Given the description of an element on the screen output the (x, y) to click on. 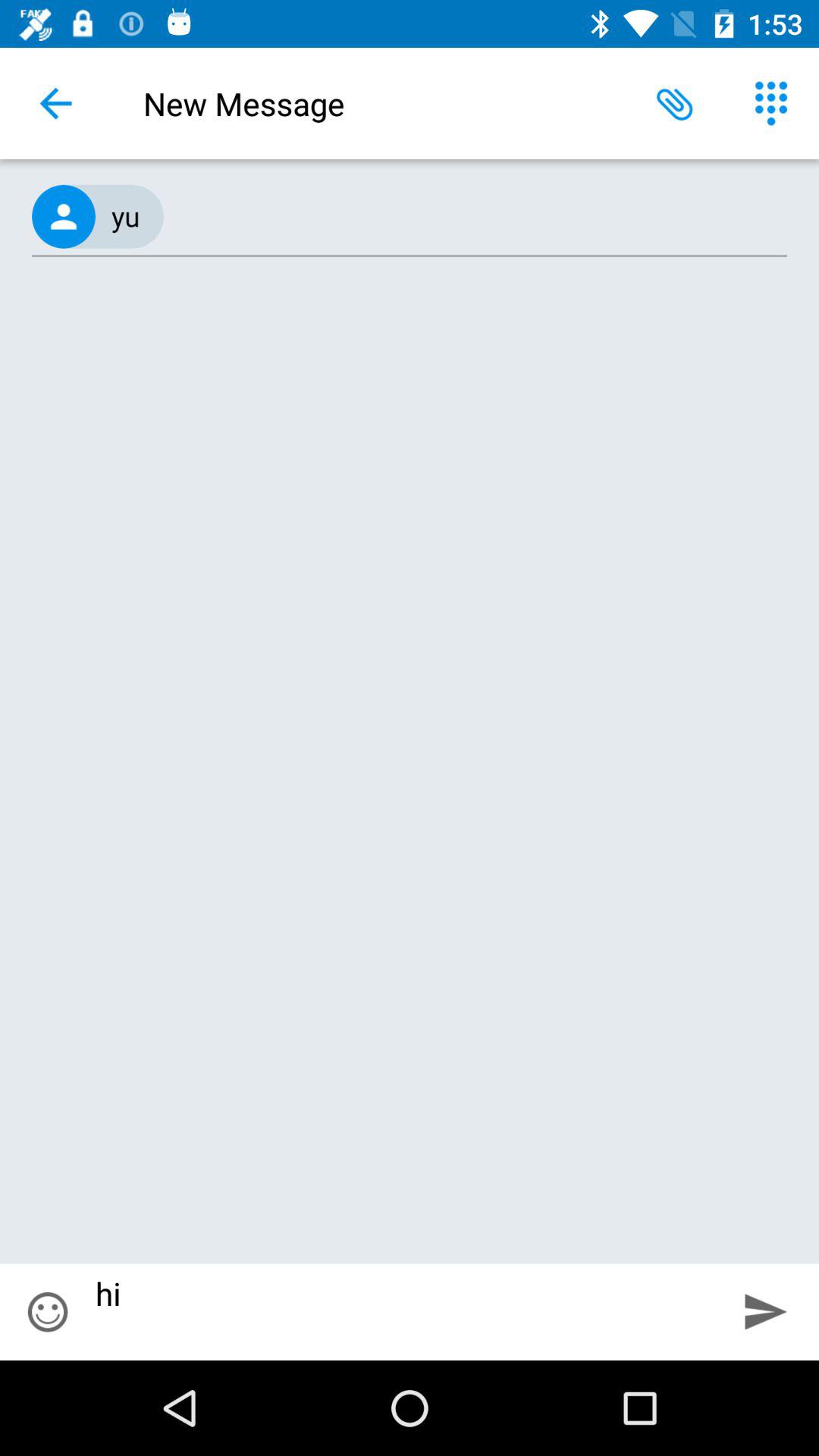
turn on item above (667) 676-5778, (55, 103)
